Given the description of an element on the screen output the (x, y) to click on. 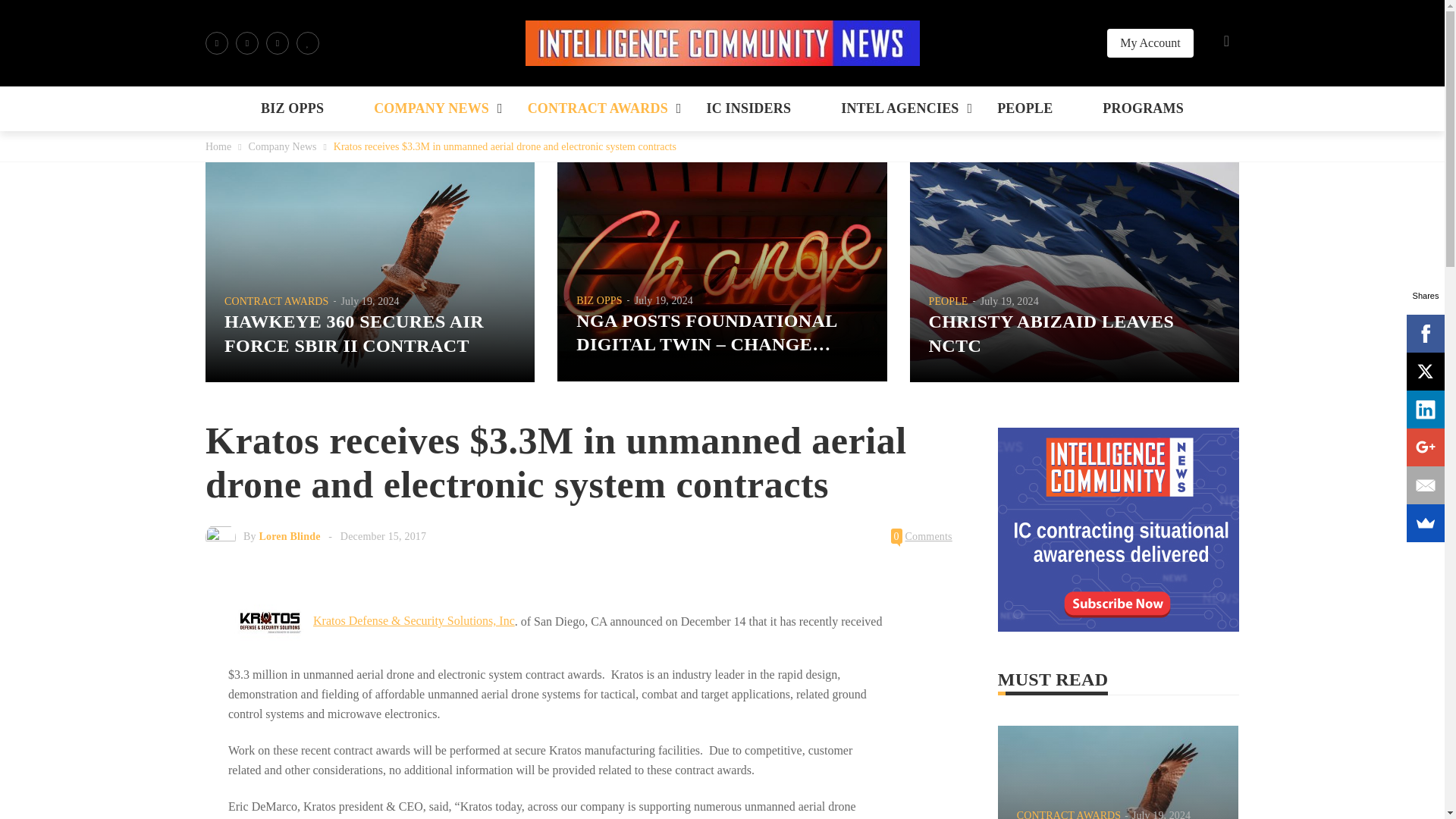
My Account (1149, 42)
Company News (282, 146)
Posts by Loren Blinde (289, 536)
IC INSIDERS (748, 108)
PROGRAMS (1142, 108)
Home (218, 146)
Home (218, 146)
INTEL AGENCIES (899, 108)
Company News (282, 146)
PEOPLE (1024, 108)
BIZ OPPS (292, 108)
CONTRACT AWARDS (597, 108)
COMPANY NEWS (431, 108)
